Given the description of an element on the screen output the (x, y) to click on. 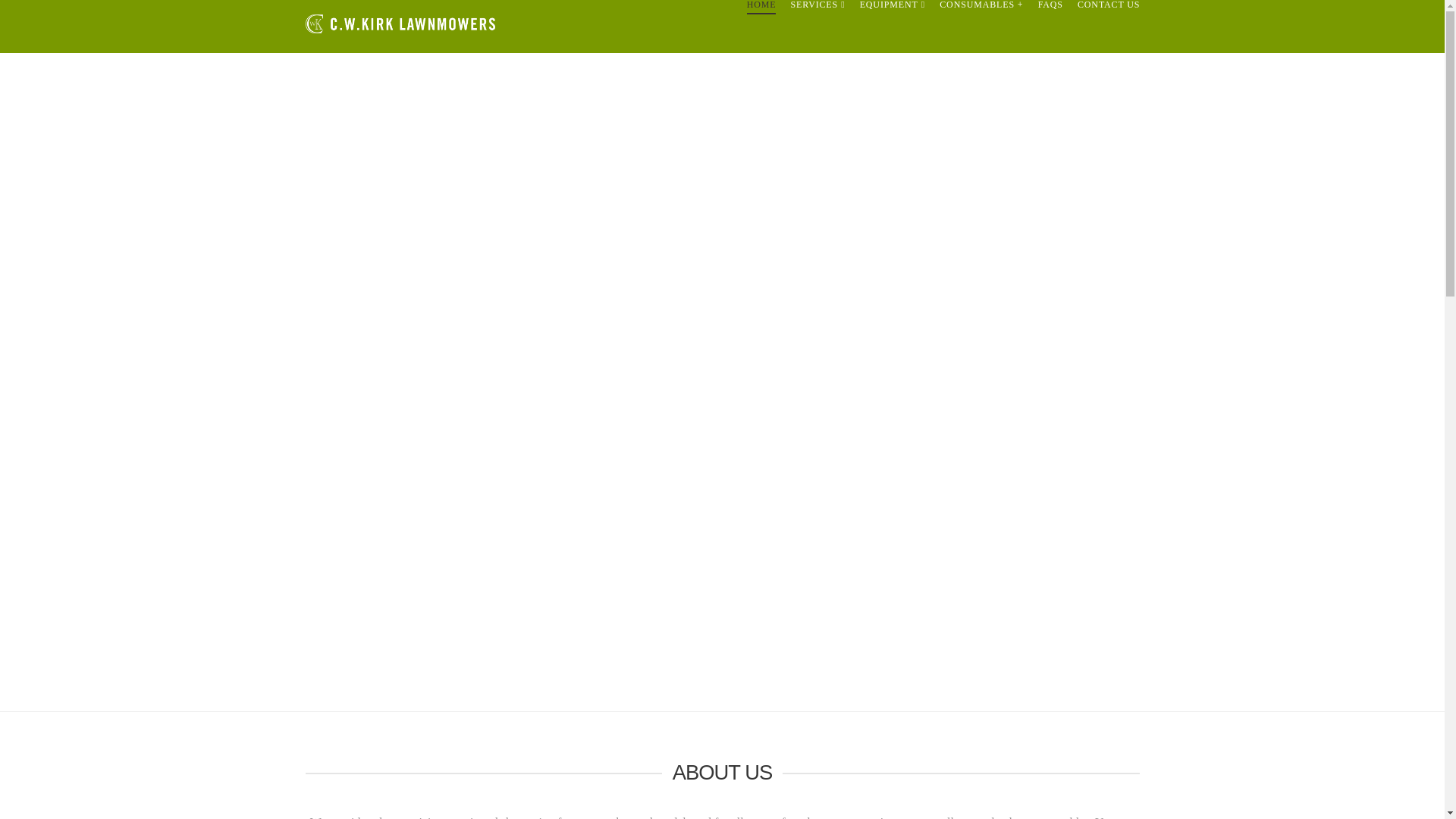
SERVICES (817, 26)
CONTACT US (1105, 26)
EQUIPMENT (892, 26)
HOME (761, 26)
FAQS (1050, 26)
